Given the description of an element on the screen output the (x, y) to click on. 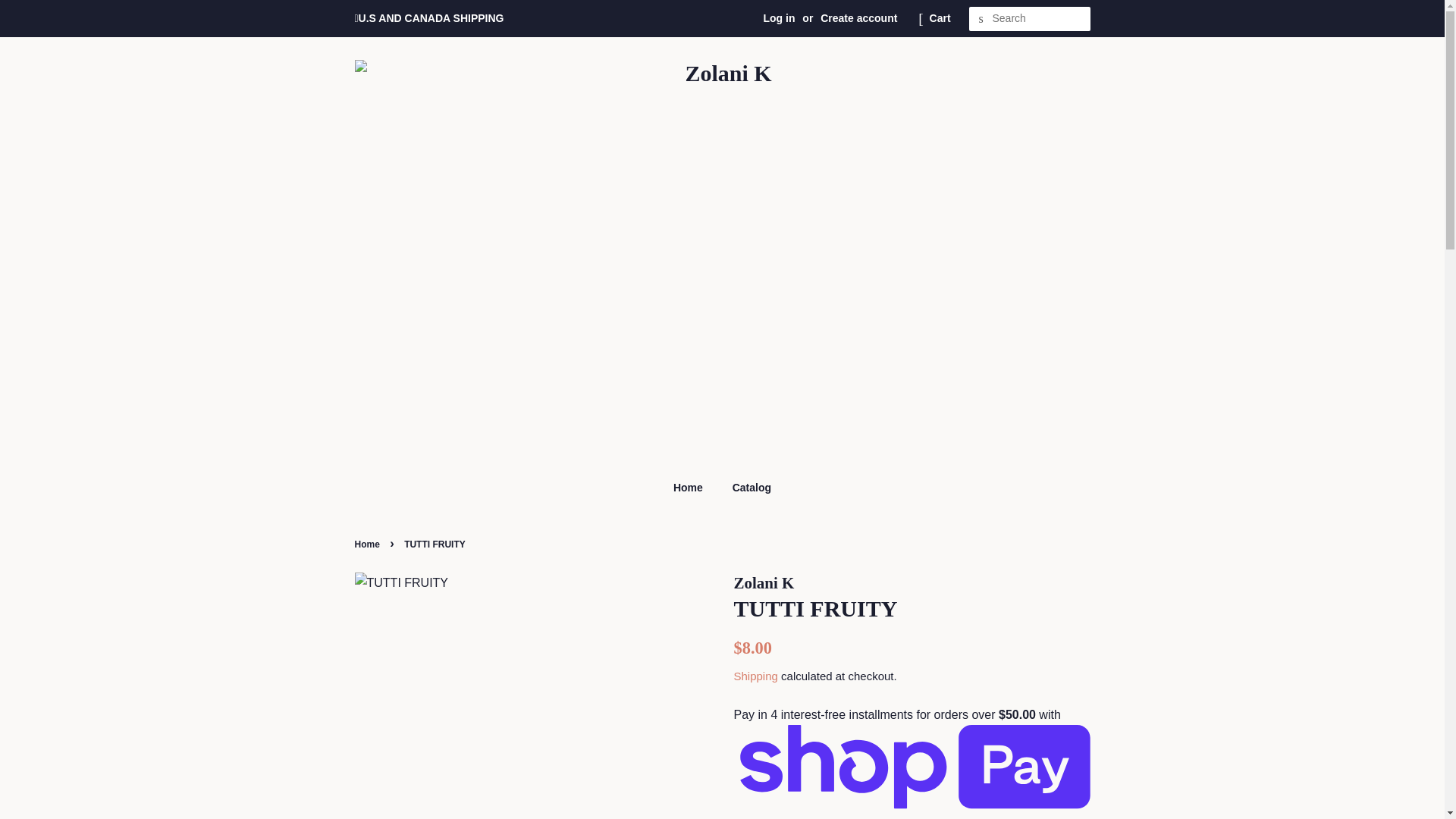
Create account (858, 18)
Home (694, 488)
Home (369, 543)
Log in (778, 18)
Back to the frontpage (369, 543)
Search (980, 18)
Cart (940, 18)
Shipping (755, 675)
Catalog (745, 488)
